Given the description of an element on the screen output the (x, y) to click on. 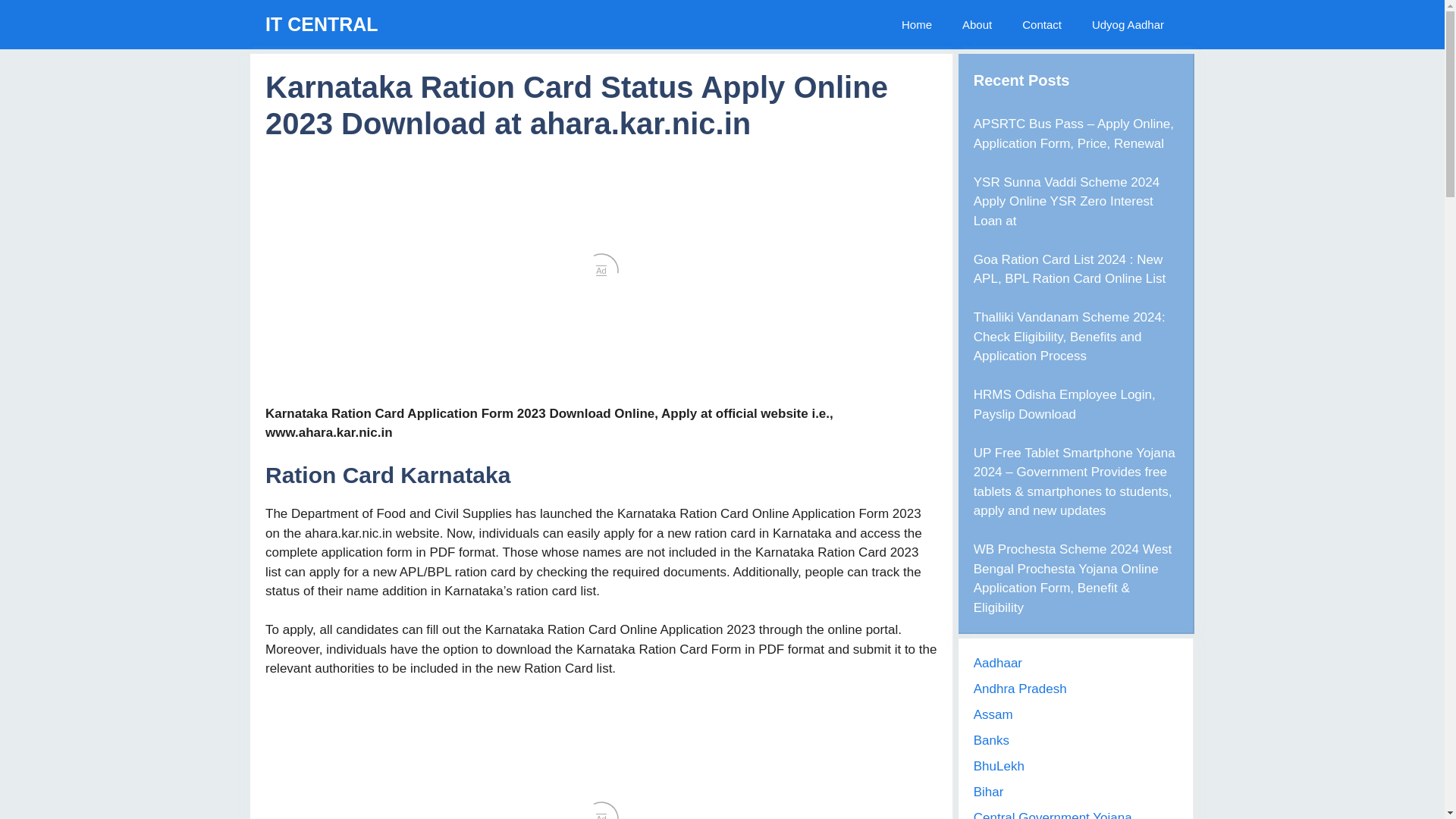
Udyog Aadhar (1128, 24)
HRMS Odisha Employee Login, Payslip Download (1065, 404)
BhuLekh (999, 766)
Central Government Yojana (1053, 814)
Bihar (989, 791)
IT CENTRAL (321, 24)
Andhra Pradesh (1020, 688)
Contact (1042, 24)
Home (916, 24)
About (977, 24)
Aadhaar (998, 663)
Banks (991, 740)
